Given the description of an element on the screen output the (x, y) to click on. 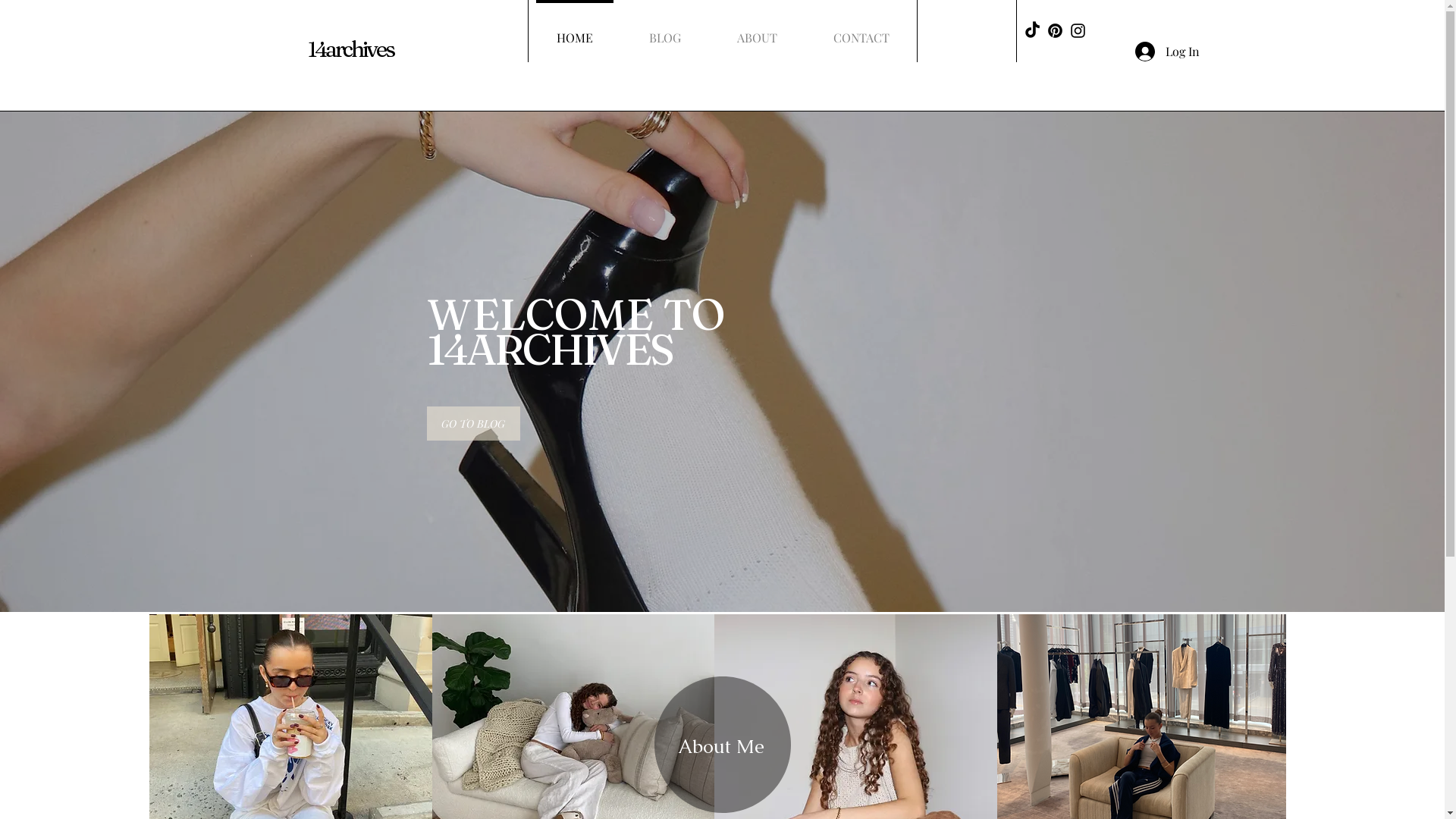
ABOUT Element type: text (756, 31)
14archives Element type: text (350, 48)
HOME Element type: text (573, 31)
GO TO BLOG Element type: text (472, 423)
Log In Element type: text (1166, 51)
BLOG Element type: text (664, 31)
CONTACT Element type: text (861, 31)
